Given the description of an element on the screen output the (x, y) to click on. 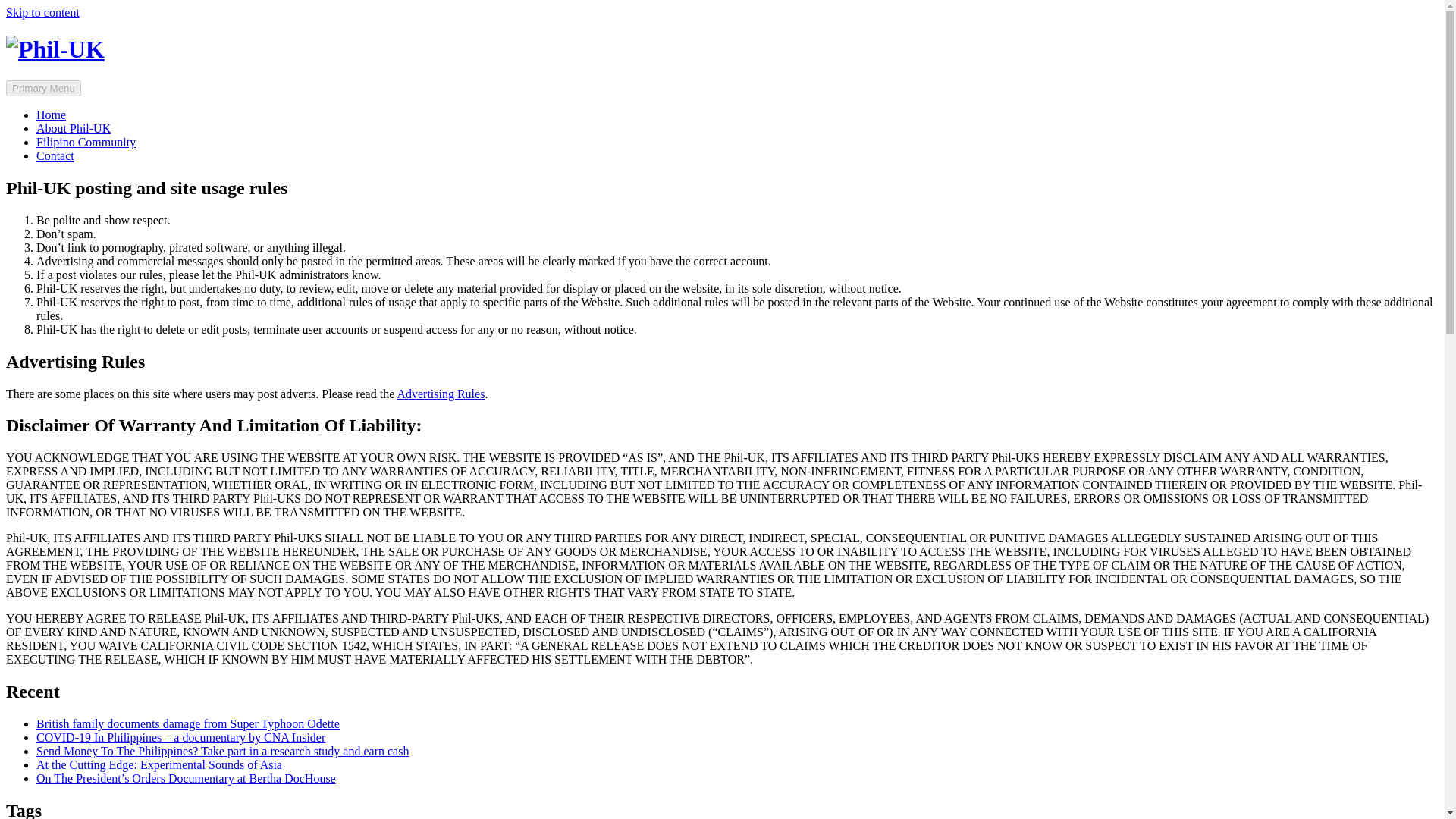
At the Cutting Edge: Experimental Sounds of Asia (159, 764)
Primary Menu (43, 88)
Advertising Rules (440, 392)
Skip to content (42, 11)
About Phil-UK (73, 128)
Filipino Community (85, 141)
Contact (55, 155)
Home (50, 114)
British family documents damage from Super Typhoon Odette (187, 723)
Phil-UK - Filipino Community in the UK (54, 49)
